Given the description of an element on the screen output the (x, y) to click on. 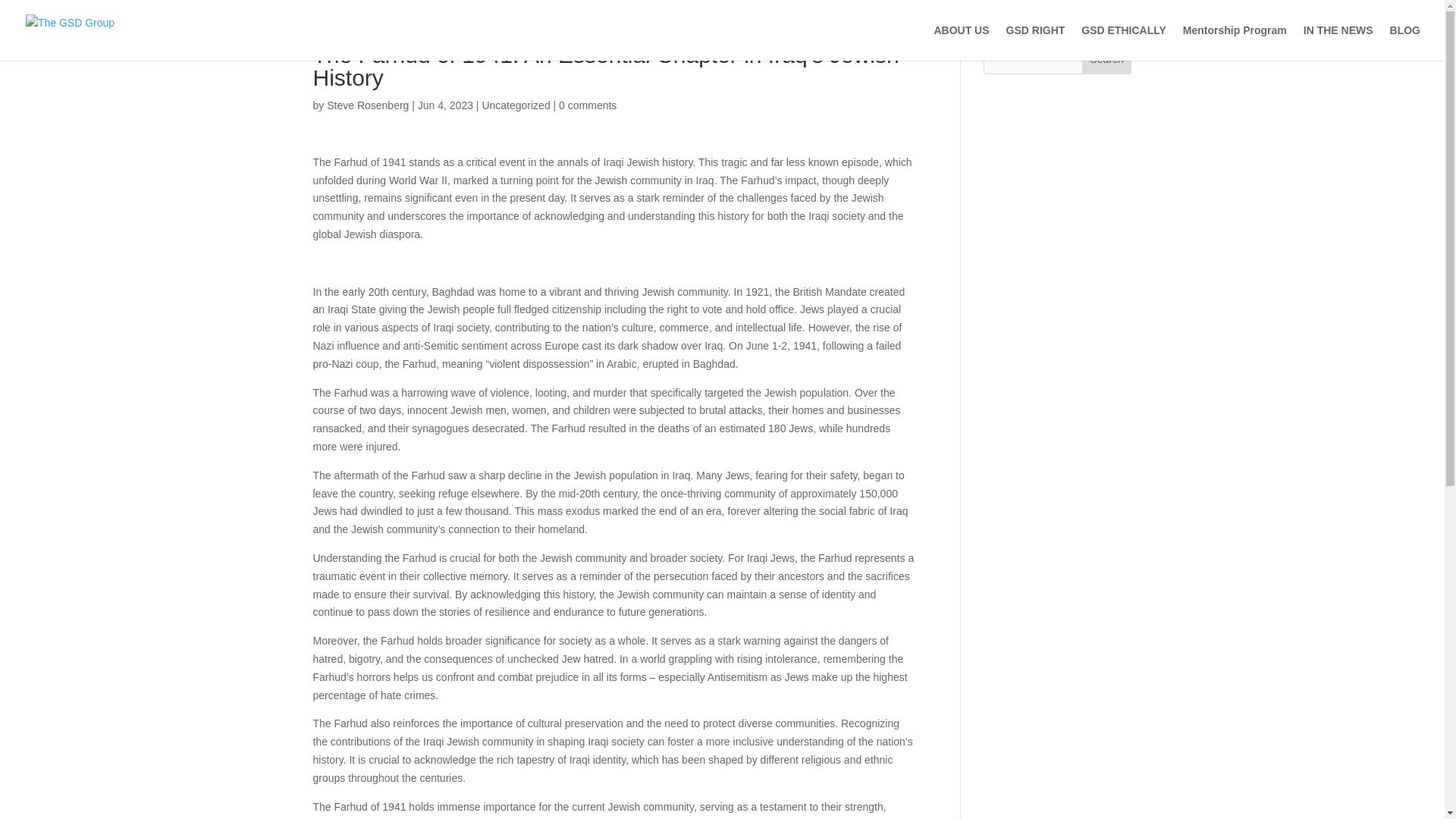
Mentorship Program (1234, 42)
IN THE NEWS (1338, 42)
Search (1106, 59)
Uncategorized (515, 105)
Steve Rosenberg (367, 105)
0 comments (587, 105)
GSD RIGHT (1035, 42)
Posts by Steve Rosenberg (367, 105)
ABOUT US (960, 42)
GSD ETHICALLY (1123, 42)
